Given the description of an element on the screen output the (x, y) to click on. 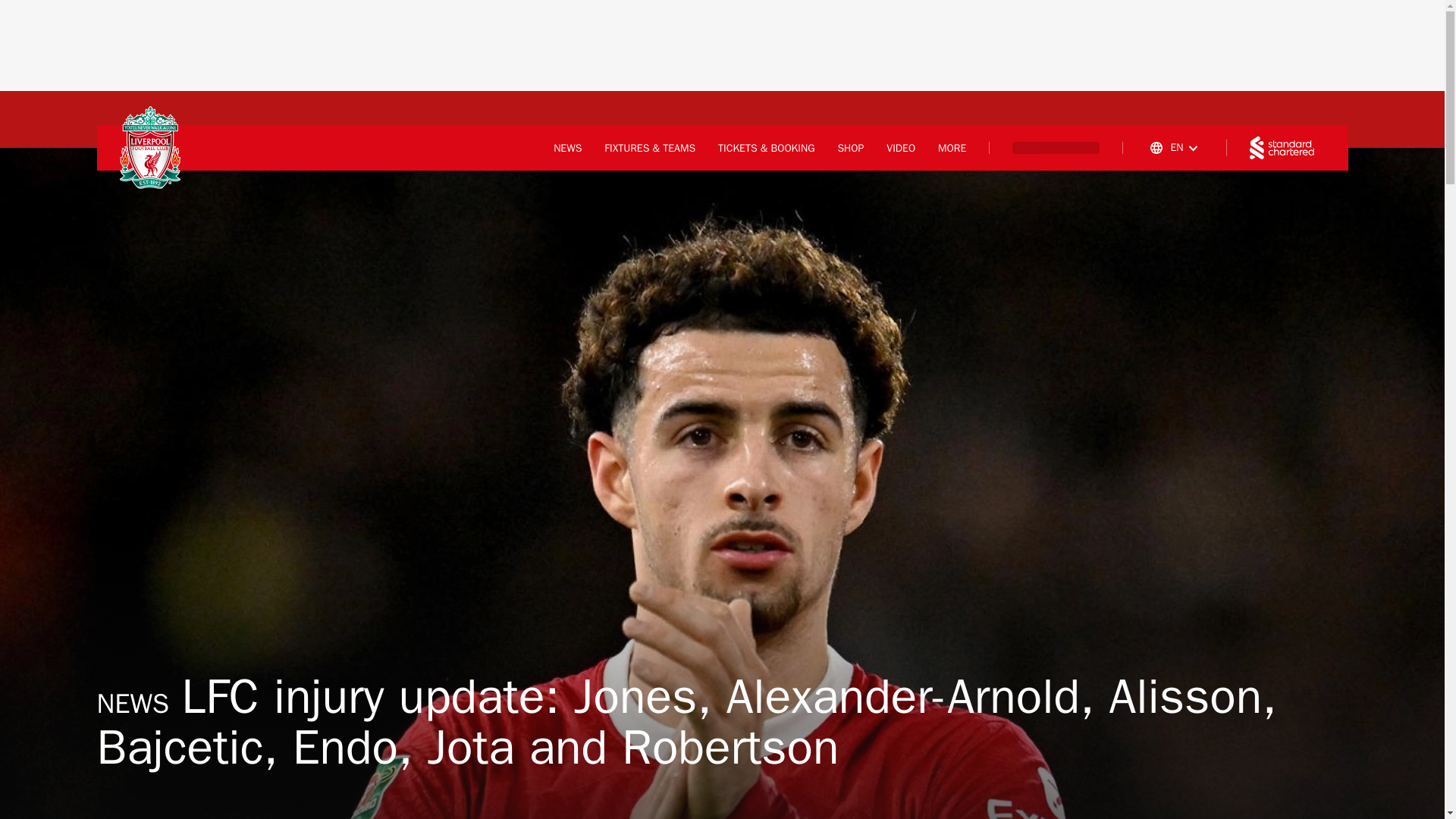
NEWS (566, 148)
